Given the description of an element on the screen output the (x, y) to click on. 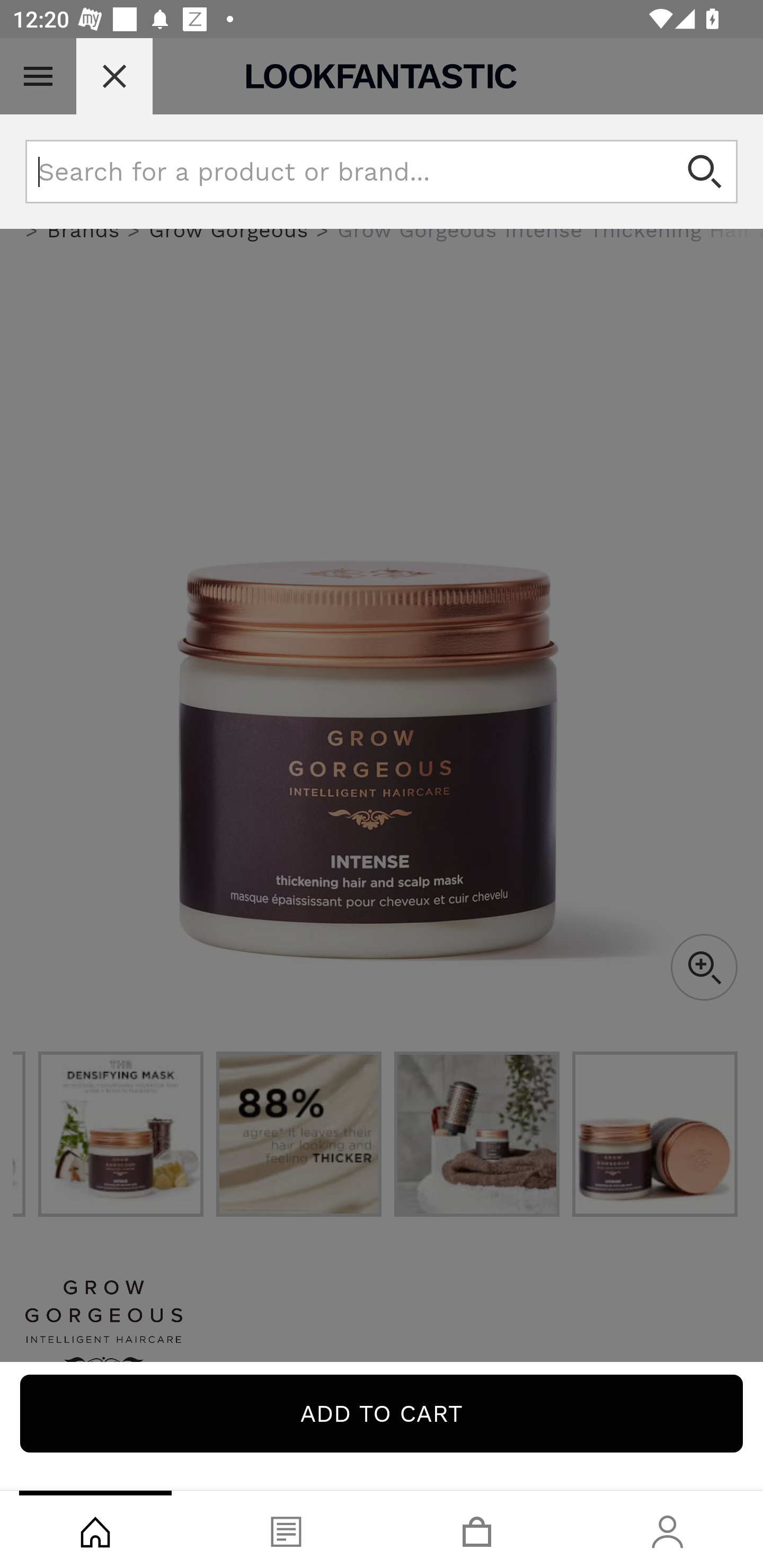
Close search (114, 75)
Start search (705, 171)
Add to cart (381, 1413)
Shop, tab, 1 of 4 (95, 1529)
Blog, tab, 2 of 4 (285, 1529)
Basket, tab, 3 of 4 (476, 1529)
Account, tab, 4 of 4 (667, 1529)
